Given the description of an element on the screen output the (x, y) to click on. 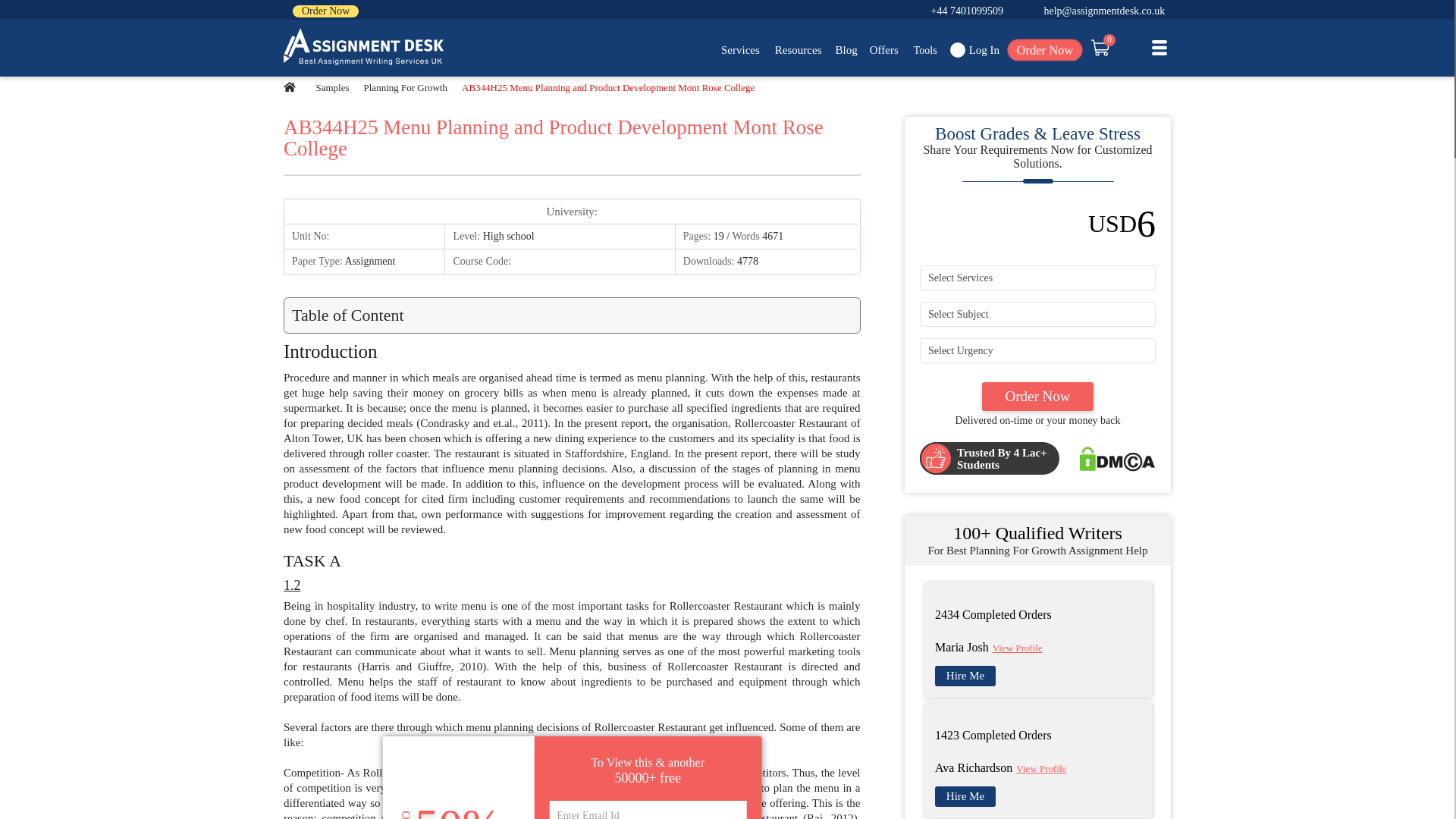
Assignment help (363, 47)
Home (289, 86)
Order Now (325, 10)
